Given the description of an element on the screen output the (x, y) to click on. 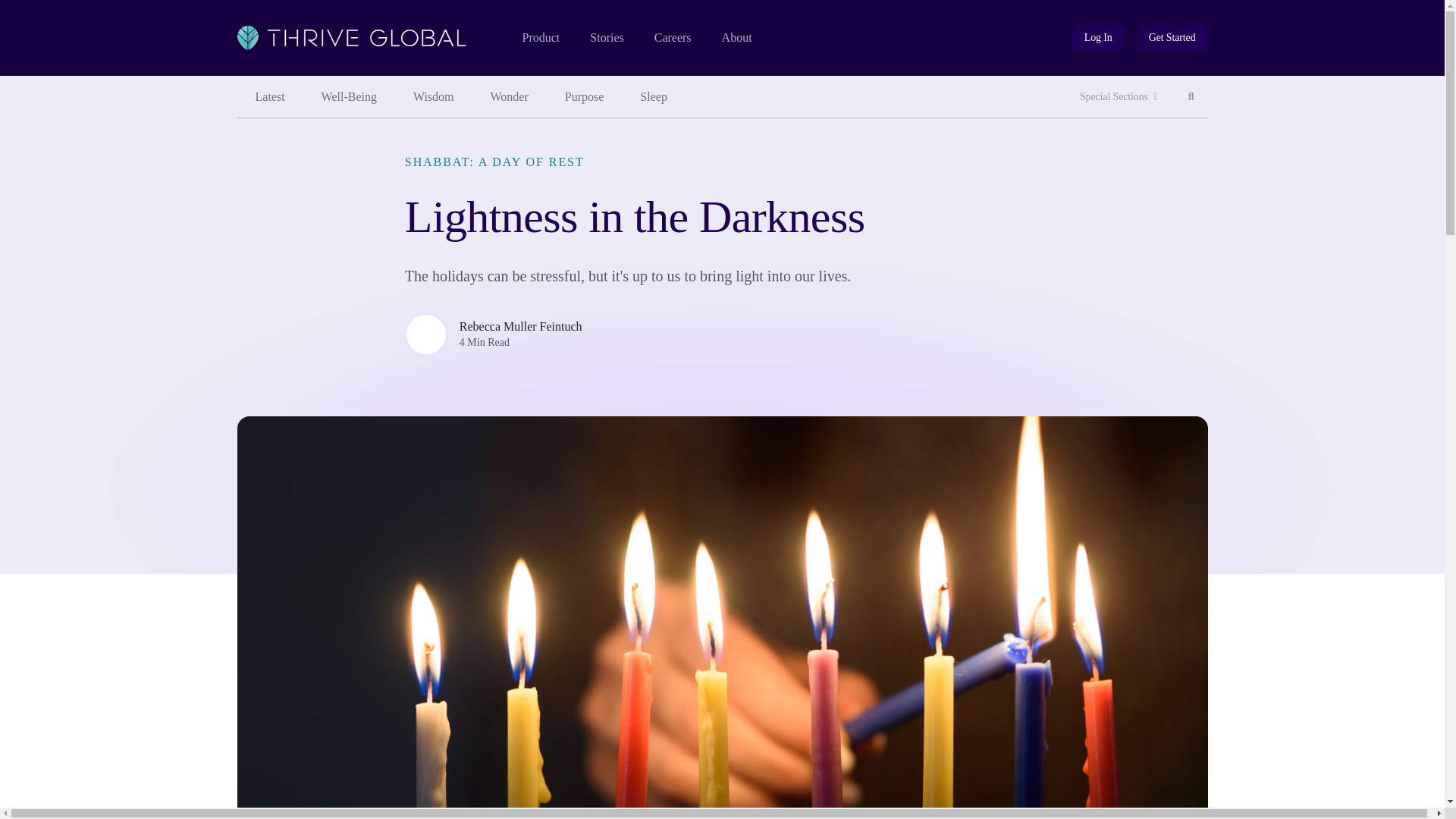
Careers (672, 37)
Latest (268, 96)
Search site (1190, 96)
Stories (606, 37)
Product (540, 37)
Sleep (653, 96)
Log In (1097, 37)
Wisdom (432, 96)
Get Started (1172, 37)
Well-Being (348, 96)
btn-info (1097, 37)
Special Sections (1191, 97)
About (1118, 97)
Wonder (737, 37)
